Given the description of an element on the screen output the (x, y) to click on. 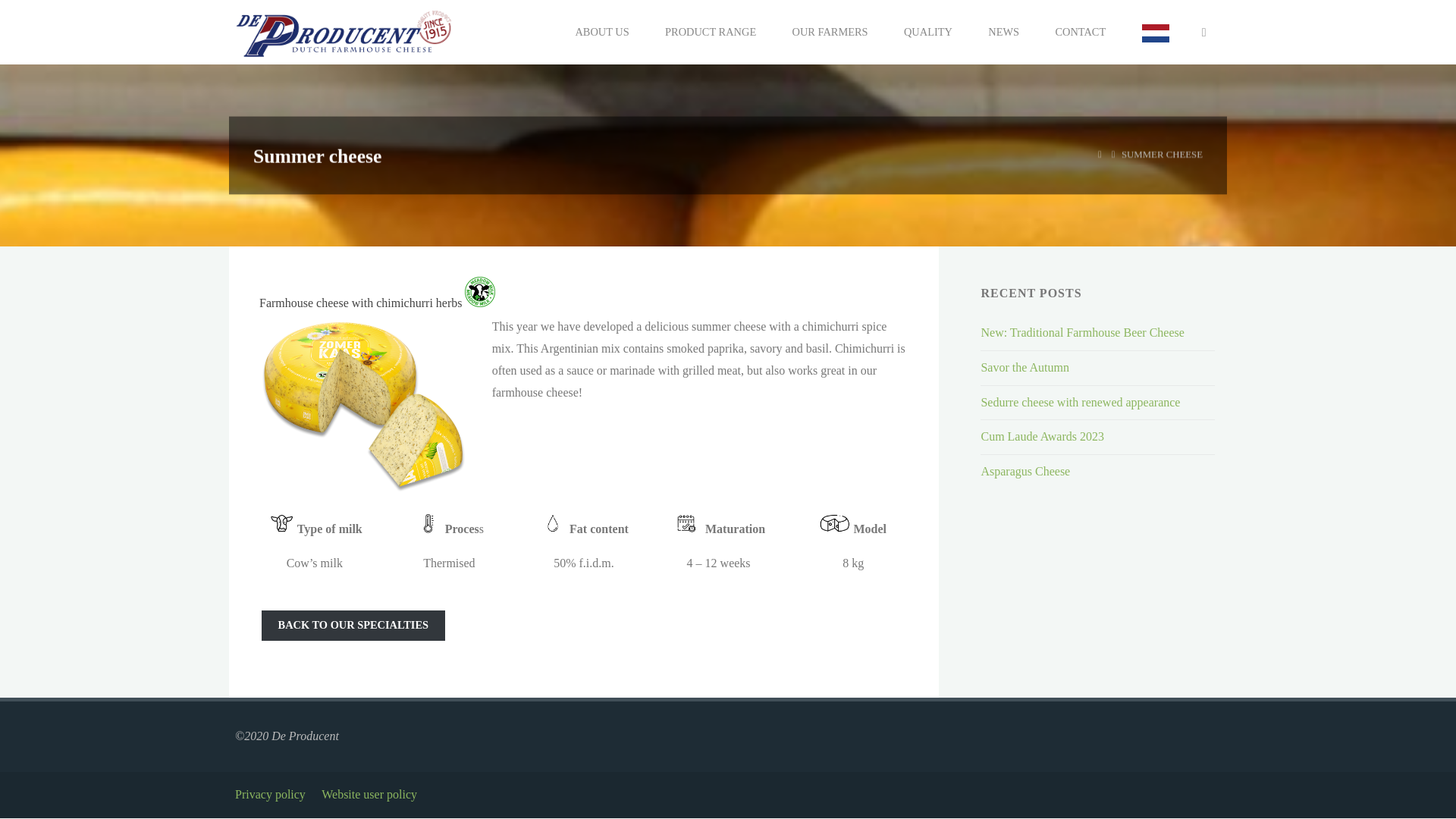
New: Traditional Farmhouse Beer Cheese (1081, 332)
PRODUCT RANGE (710, 32)
De Producent (344, 31)
Cum Laude Awards 2023 (1041, 436)
HOME (1099, 154)
Sedurre cheese with renewed appearance (1079, 401)
OUR FARMERS (830, 32)
BACK TO OUR SPECIALTIES (352, 625)
Home (1099, 154)
Savor the Autumn (1023, 367)
